Given the description of an element on the screen output the (x, y) to click on. 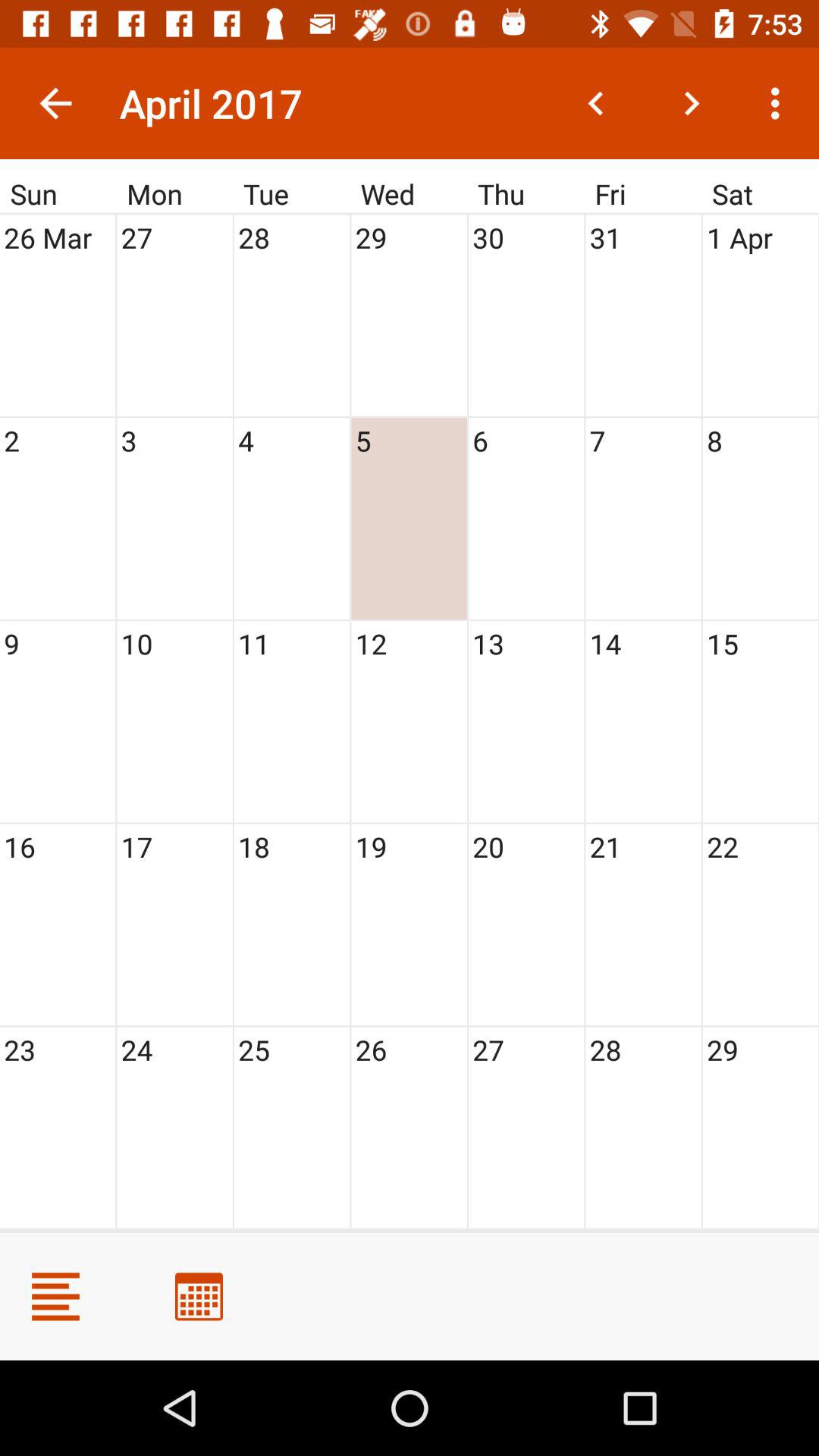
calendar view change (198, 1296)
